Given the description of an element on the screen output the (x, y) to click on. 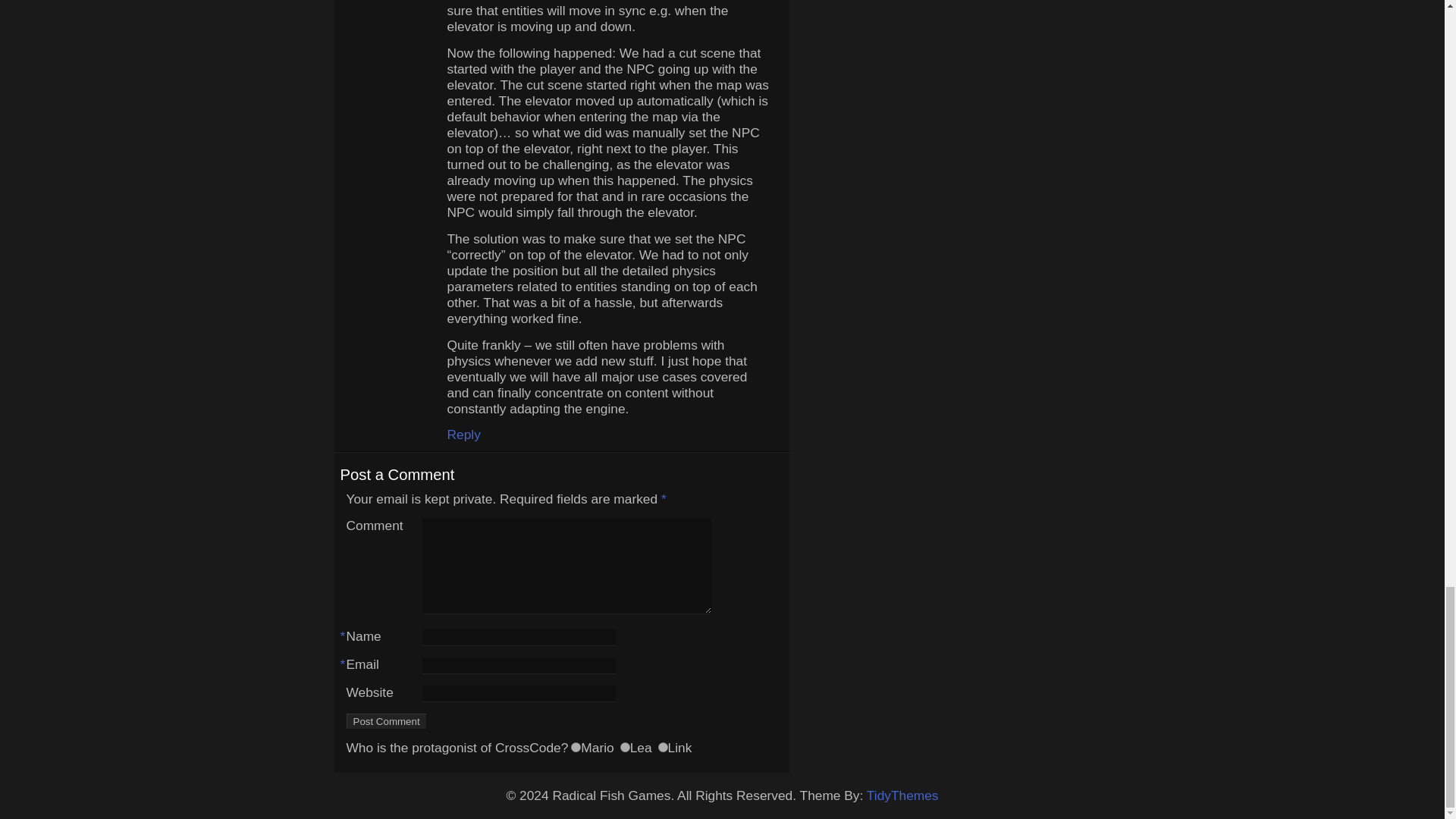
Post Comment (386, 721)
Post Comment (386, 721)
Lea (625, 747)
Link (663, 747)
Mario (575, 747)
Reply (463, 434)
